Given the description of an element on the screen output the (x, y) to click on. 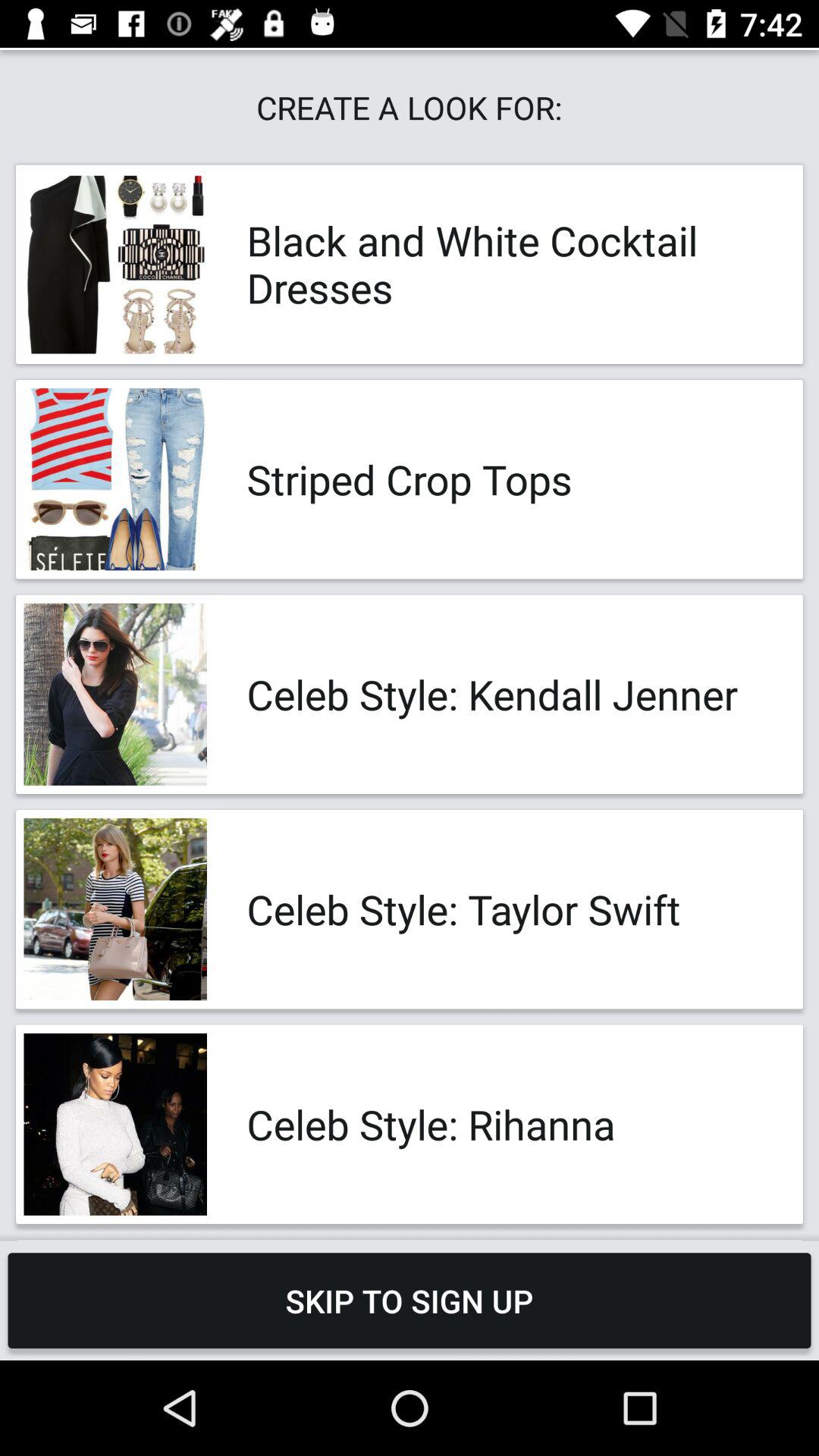
scroll to striped crop tops item (508, 478)
